Given the description of an element on the screen output the (x, y) to click on. 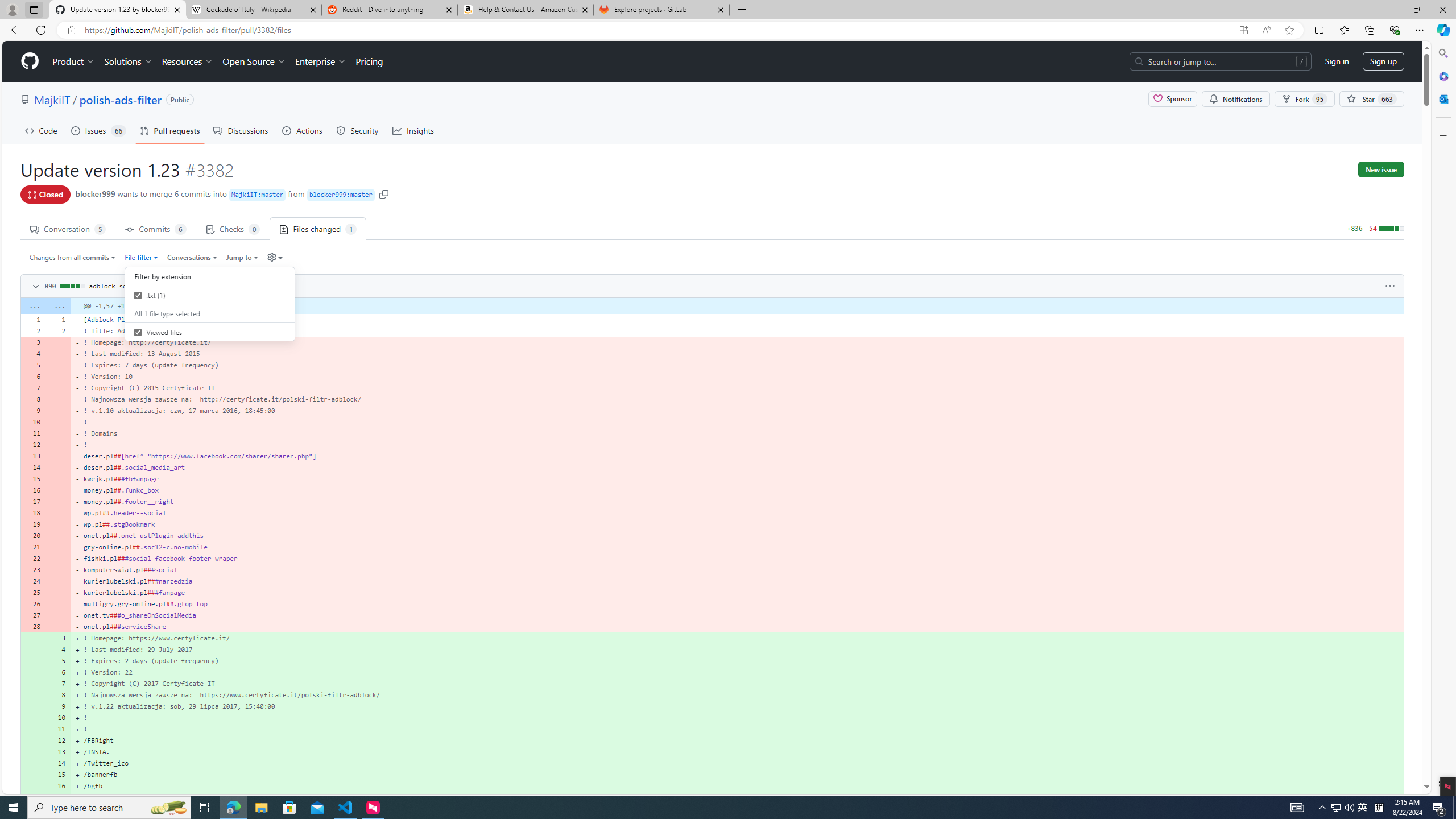
Toggle diff contents (34, 286)
- kurierlubelski.pl###narzedzia (737, 581)
Security (357, 130)
Resources (187, 60)
Issues66 (98, 130)
Open Source (254, 60)
+ ! Homepage: https://www.certyficate.it/ (737, 637)
Insights (413, 130)
Fork 95 (1304, 98)
+ /bannerfb  (737, 774)
Changes from all commits (72, 257)
 Conversation 5 (68, 228)
23 (33, 569)
